Given the description of an element on the screen output the (x, y) to click on. 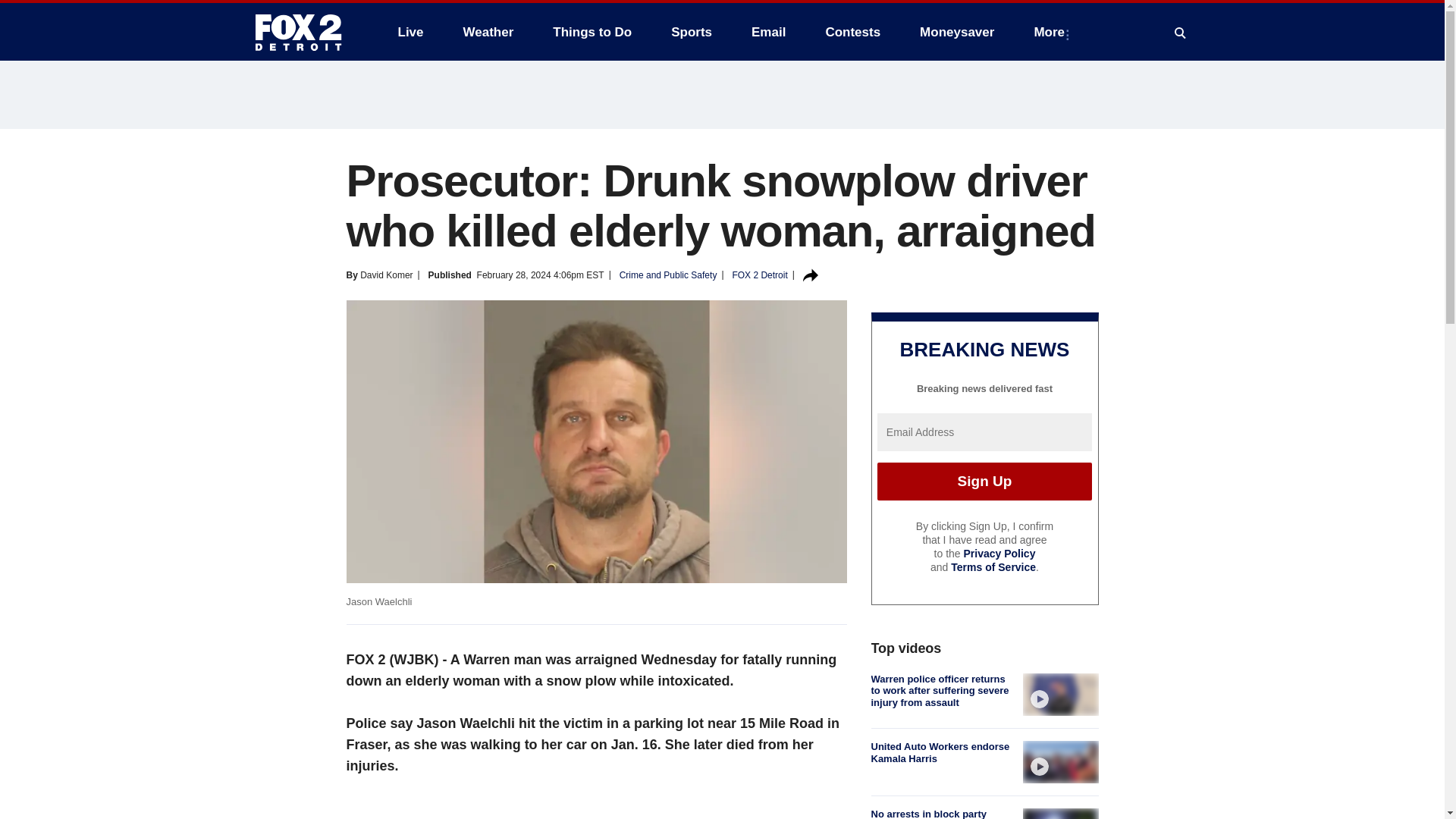
Sports (691, 32)
Contests (852, 32)
Weather (488, 32)
More (1052, 32)
Sign Up (984, 481)
Moneysaver (956, 32)
Things to Do (591, 32)
Live (410, 32)
Email (768, 32)
